Given the description of an element on the screen output the (x, y) to click on. 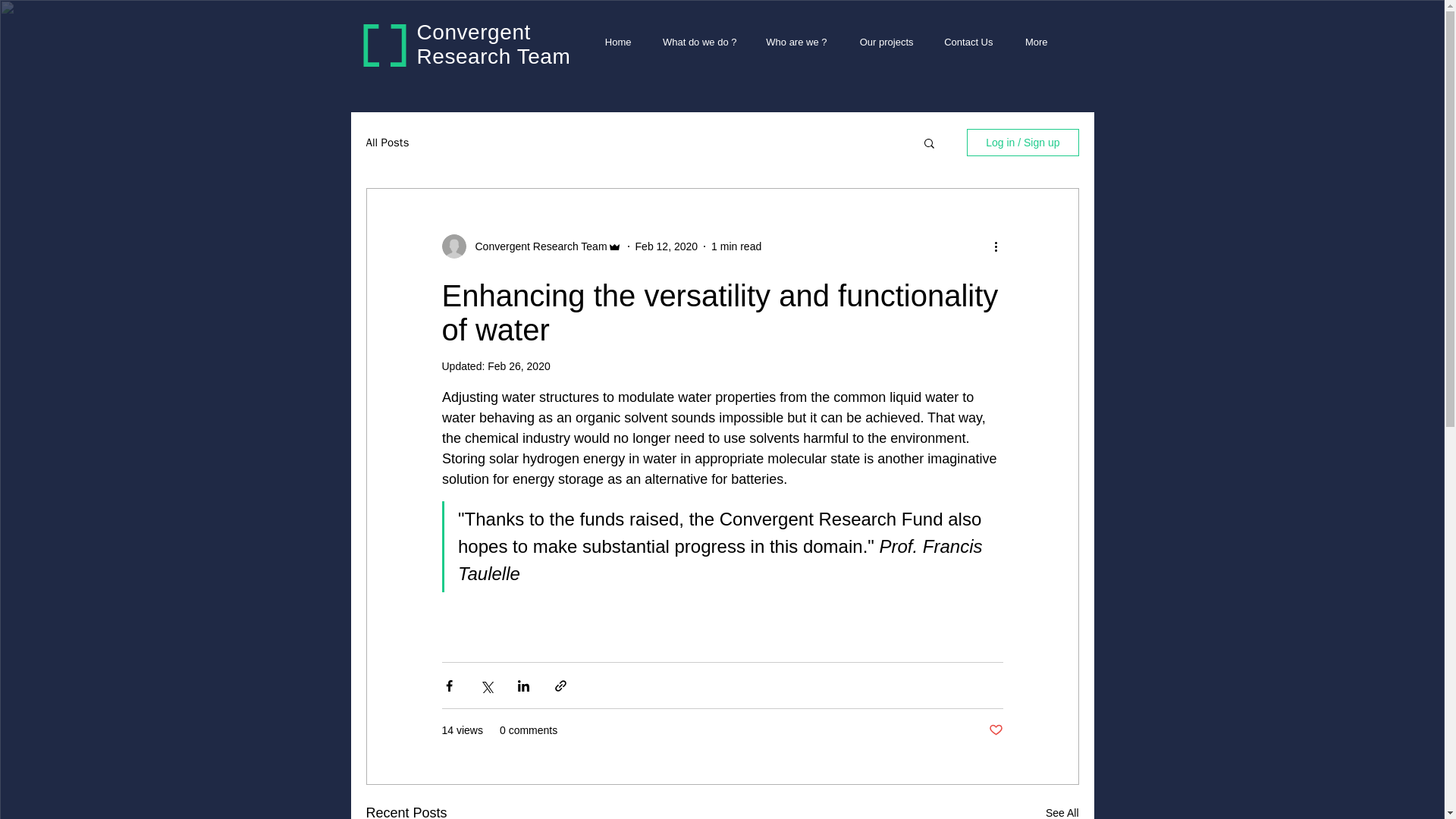
All Posts (387, 142)
Post not marked as liked (995, 730)
See All (1061, 810)
1 min read (736, 245)
Feb 26, 2020 (518, 366)
Our projects (881, 41)
Who are we ? (793, 41)
What do we do ? (695, 41)
Feb 12, 2020 (666, 245)
Research Team (493, 56)
